Given the description of an element on the screen output the (x, y) to click on. 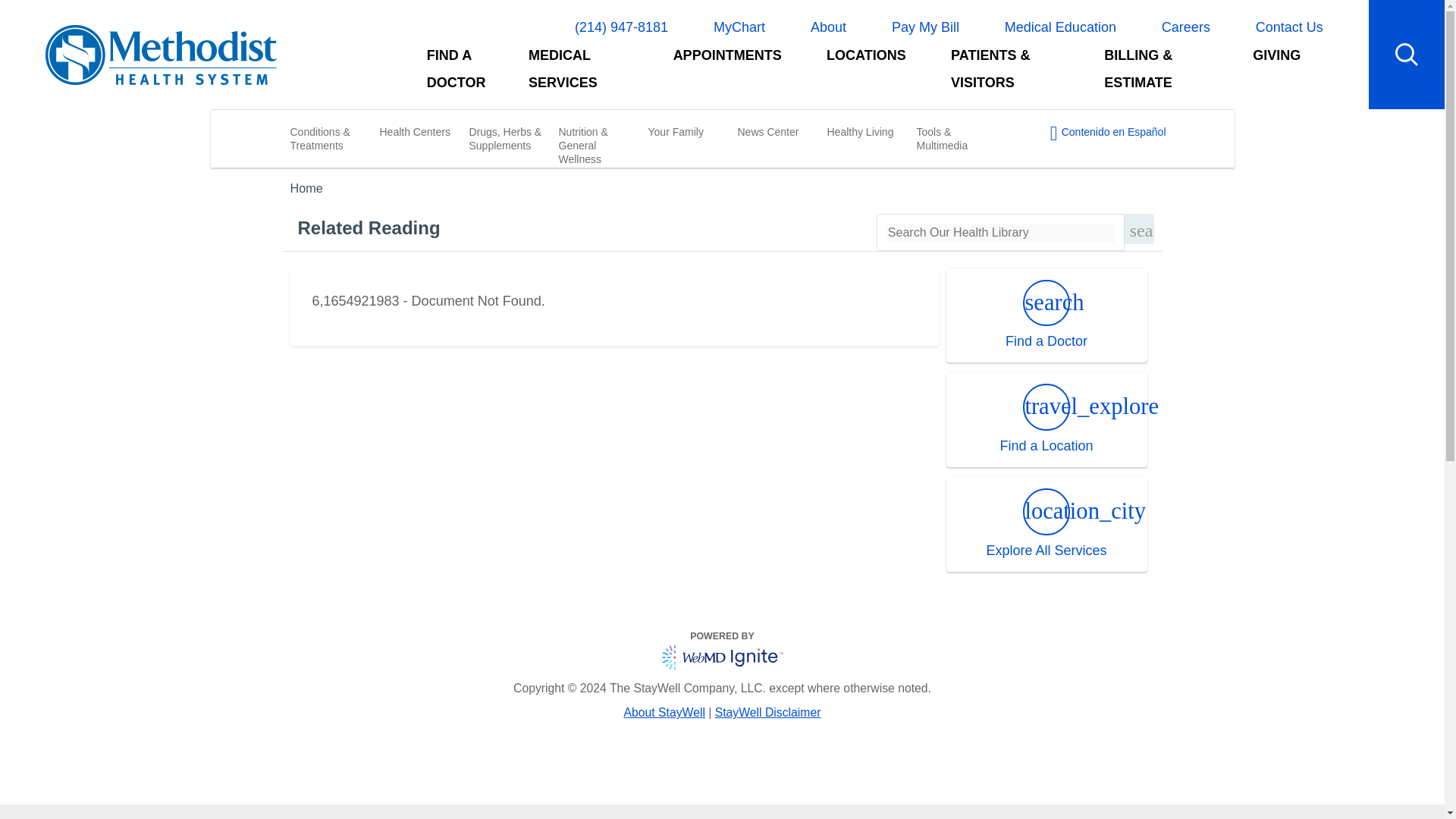
APPOINTMENTS (726, 74)
Find a Doctor (466, 74)
MEDICAL SERVICES (577, 74)
MyChart (739, 27)
Medical Education (1060, 27)
Contact Us (1289, 27)
About (827, 27)
Contact Us (1289, 27)
Careers (1185, 27)
Methodist Health System (160, 55)
Careers (1185, 27)
Medical Education (1060, 27)
MyChart (739, 27)
Pay My Bill (925, 27)
About (827, 27)
